Given the description of an element on the screen output the (x, y) to click on. 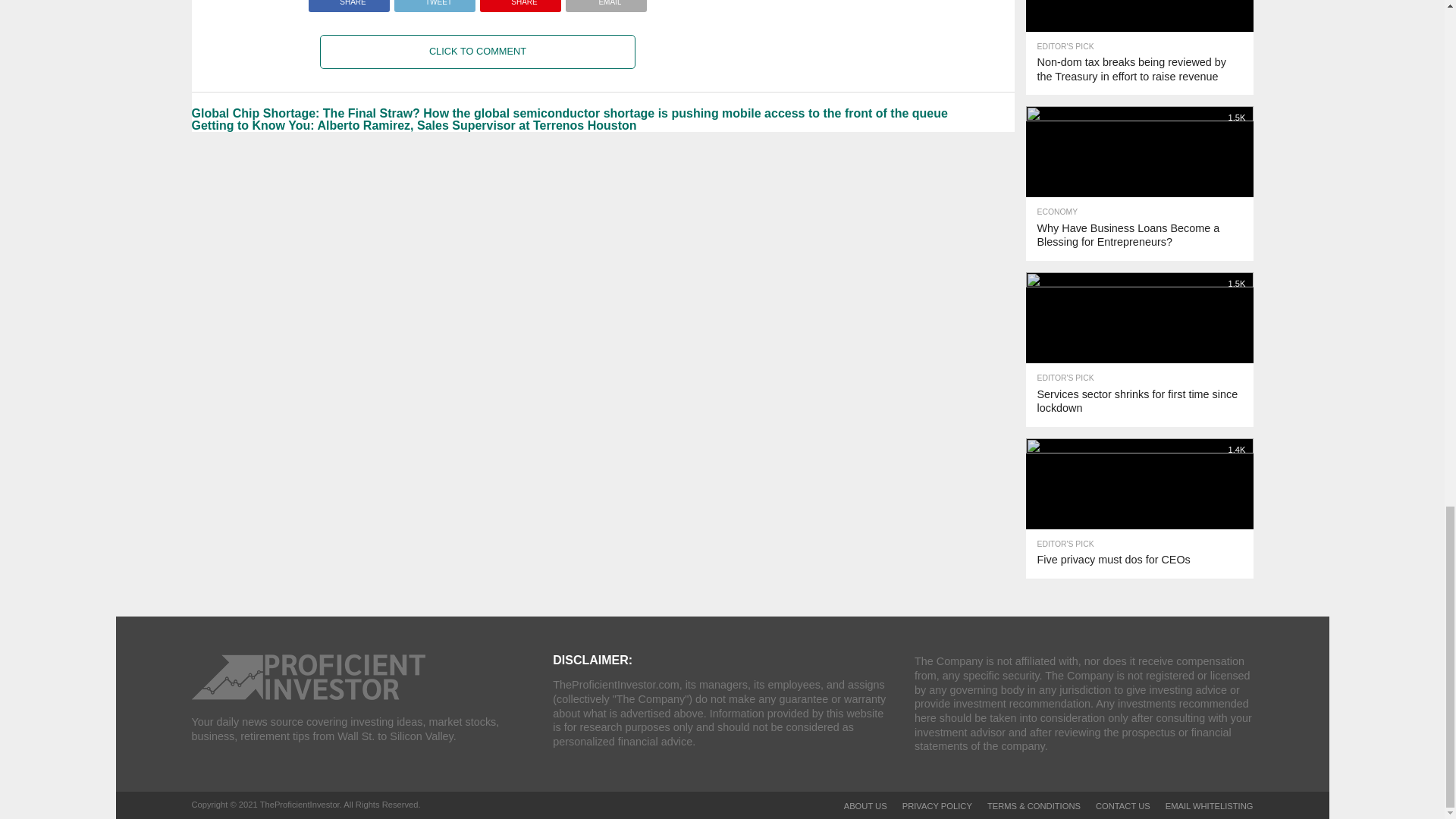
SHARE (520, 2)
Share on Facebook (349, 2)
EMAIL (605, 2)
Pin This Post (520, 2)
Tweet This Post (434, 2)
SHARE (349, 2)
TWEET (434, 2)
